Given the description of an element on the screen output the (x, y) to click on. 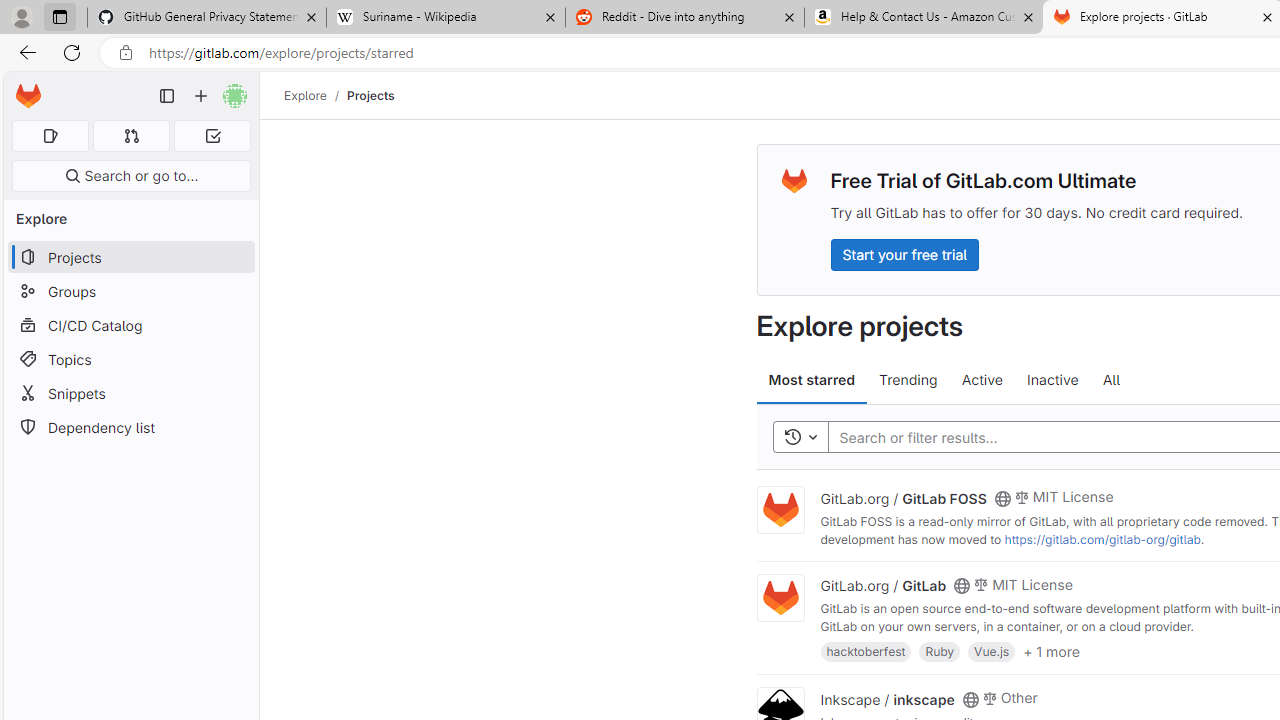
Homepage (27, 96)
Snippets (130, 393)
Reddit - Dive into anything (684, 17)
Topics (130, 358)
Class: project (780, 597)
Class: s16 (970, 699)
https://gitlab.com/gitlab-org/gitlab (1101, 539)
Help & Contact Us - Amazon Customer Service (924, 17)
Projects (370, 95)
Primary navigation sidebar (167, 96)
Ruby (940, 650)
CI/CD Catalog (130, 325)
Merge requests 0 (131, 136)
